Given the description of an element on the screen output the (x, y) to click on. 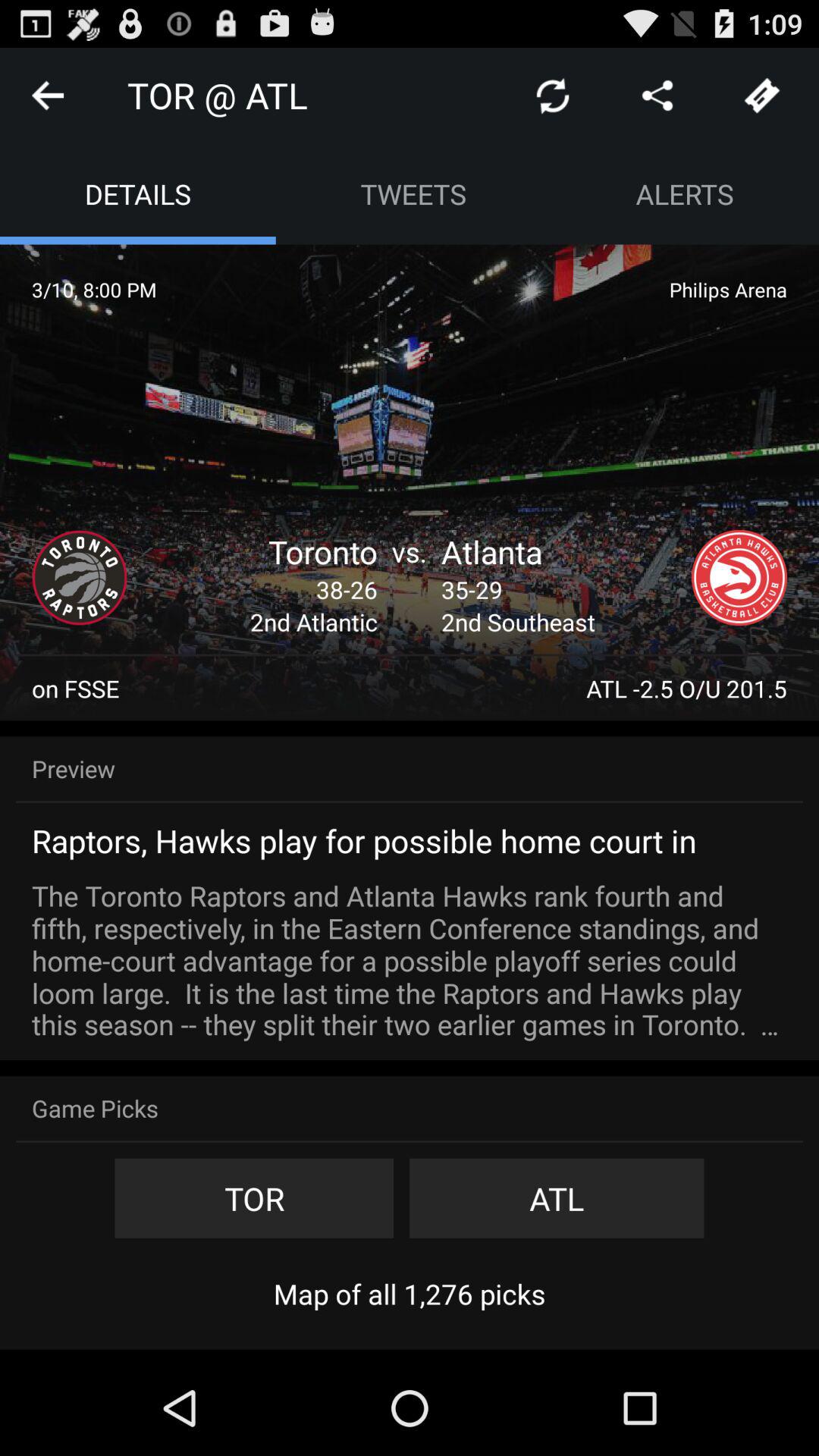
launch app to the right of tor @ atl (552, 95)
